Given the description of an element on the screen output the (x, y) to click on. 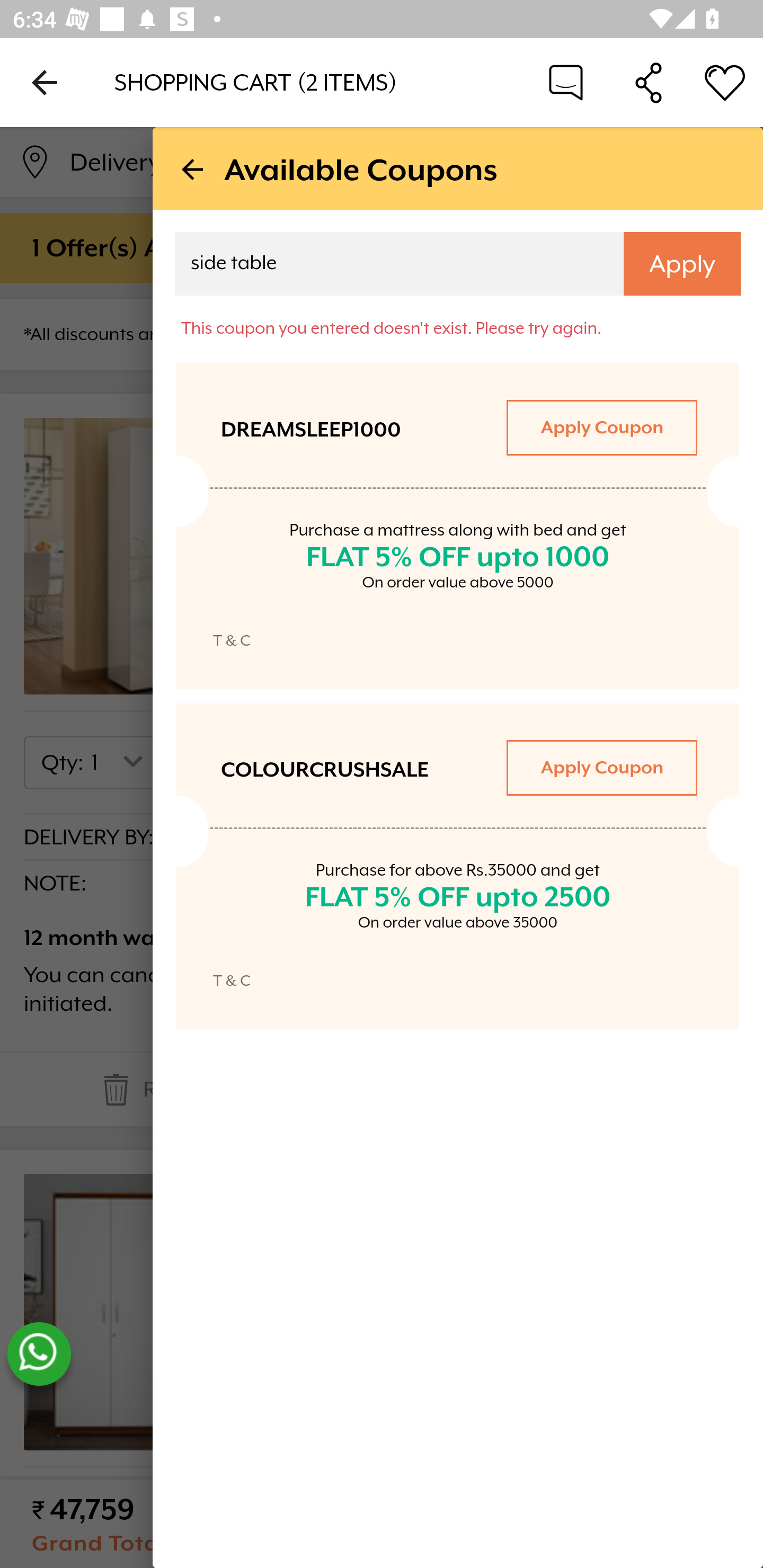
Navigate up (44, 82)
Chat (565, 81)
Share Cart (648, 81)
Wishlist (724, 81)
Apply (681, 264)
side table (386, 266)
Apply Coupon (601, 427)
T & C (231, 640)
Apply Coupon (601, 767)
T & C (231, 979)
whatsapp (38, 1353)
